Given the description of an element on the screen output the (x, y) to click on. 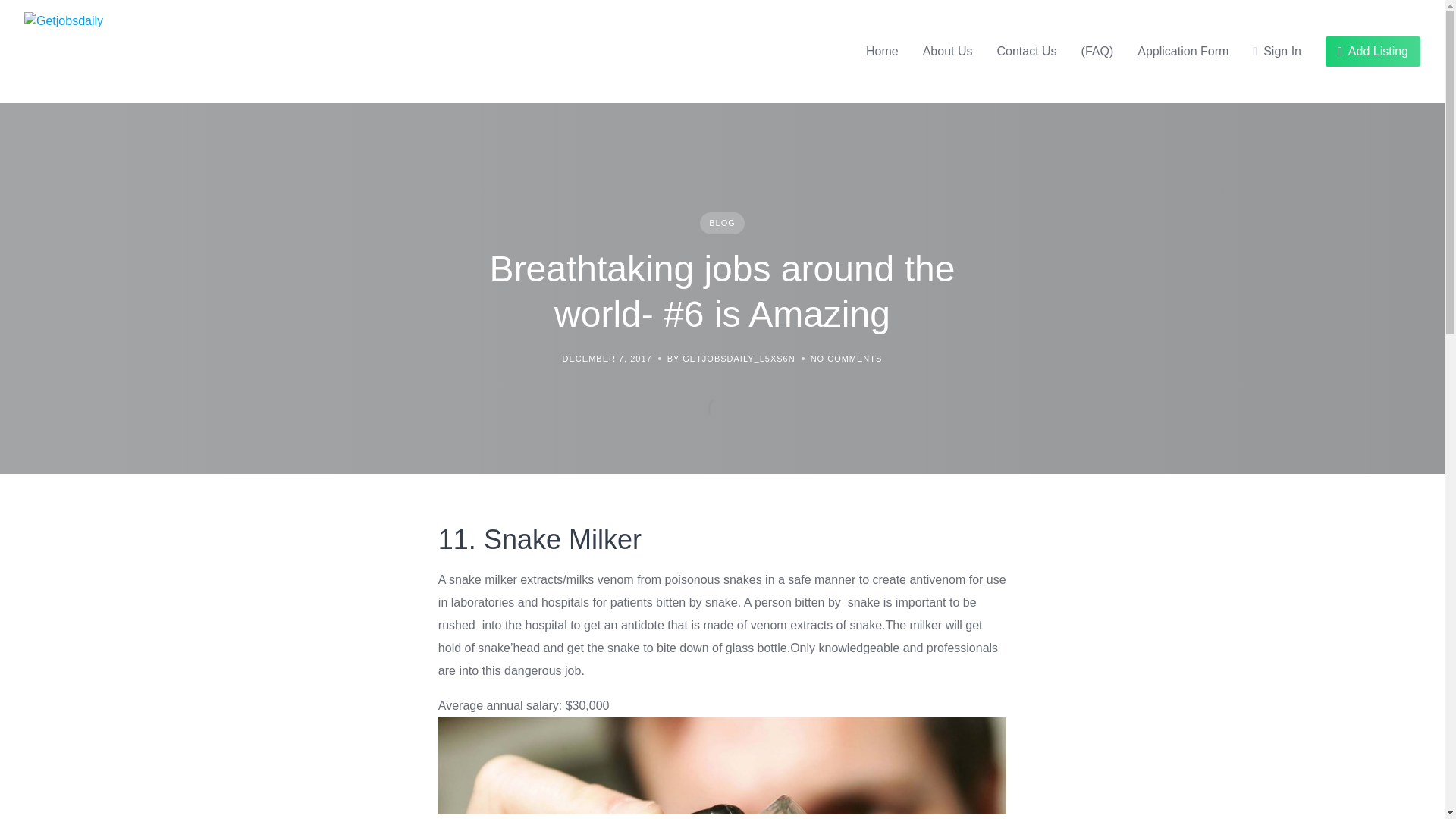
Home (882, 51)
Add Listing (1372, 51)
Application Form (1182, 51)
BLOG (722, 223)
Contact Us (1026, 51)
About Us (947, 51)
NO COMMENTS (846, 358)
Sign In (1276, 51)
